Given the description of an element on the screen output the (x, y) to click on. 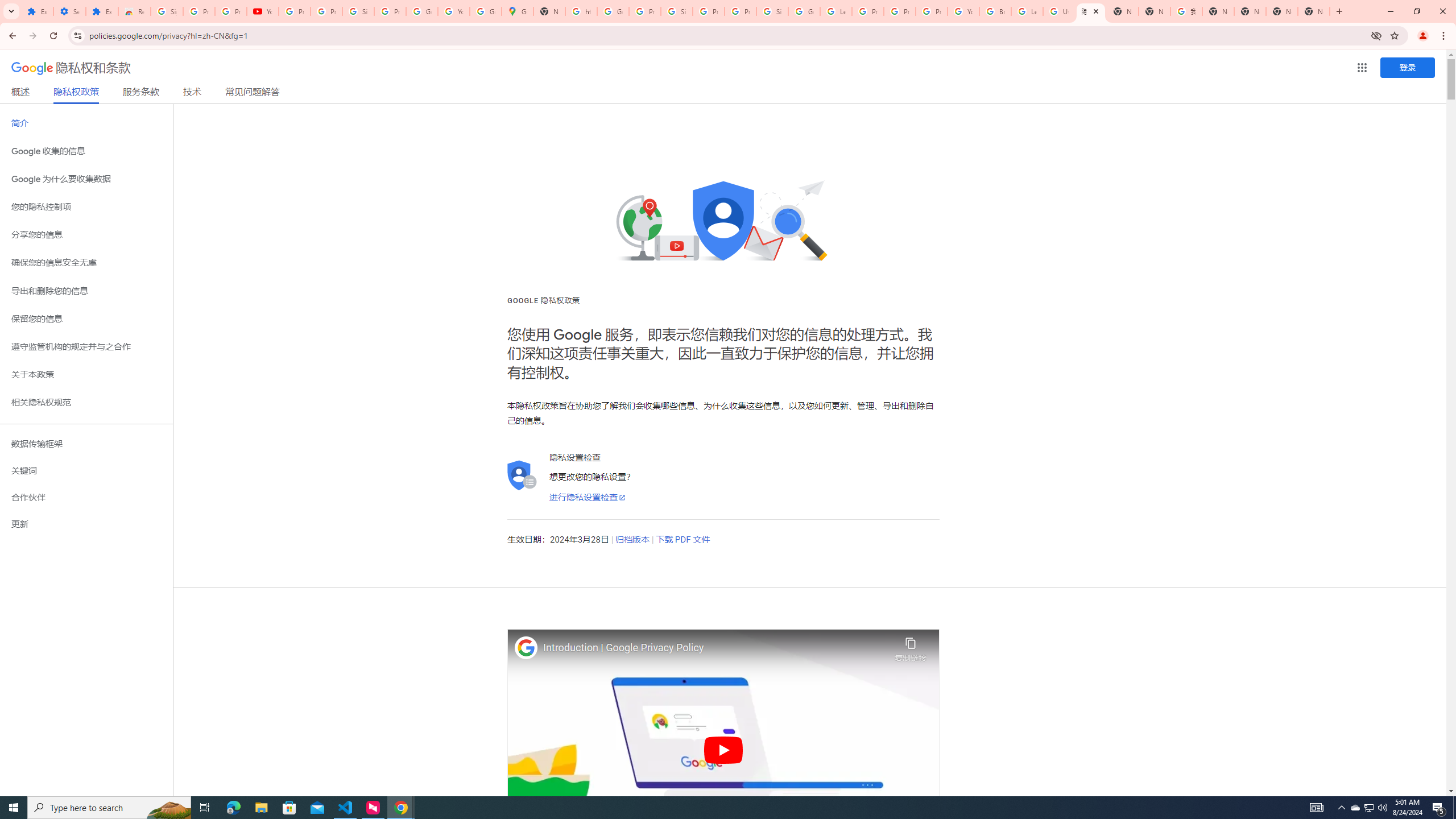
Reviews: Helix Fruit Jump Arcade Game (134, 11)
YouTube (453, 11)
New Tab (1123, 11)
